Given the description of an element on the screen output the (x, y) to click on. 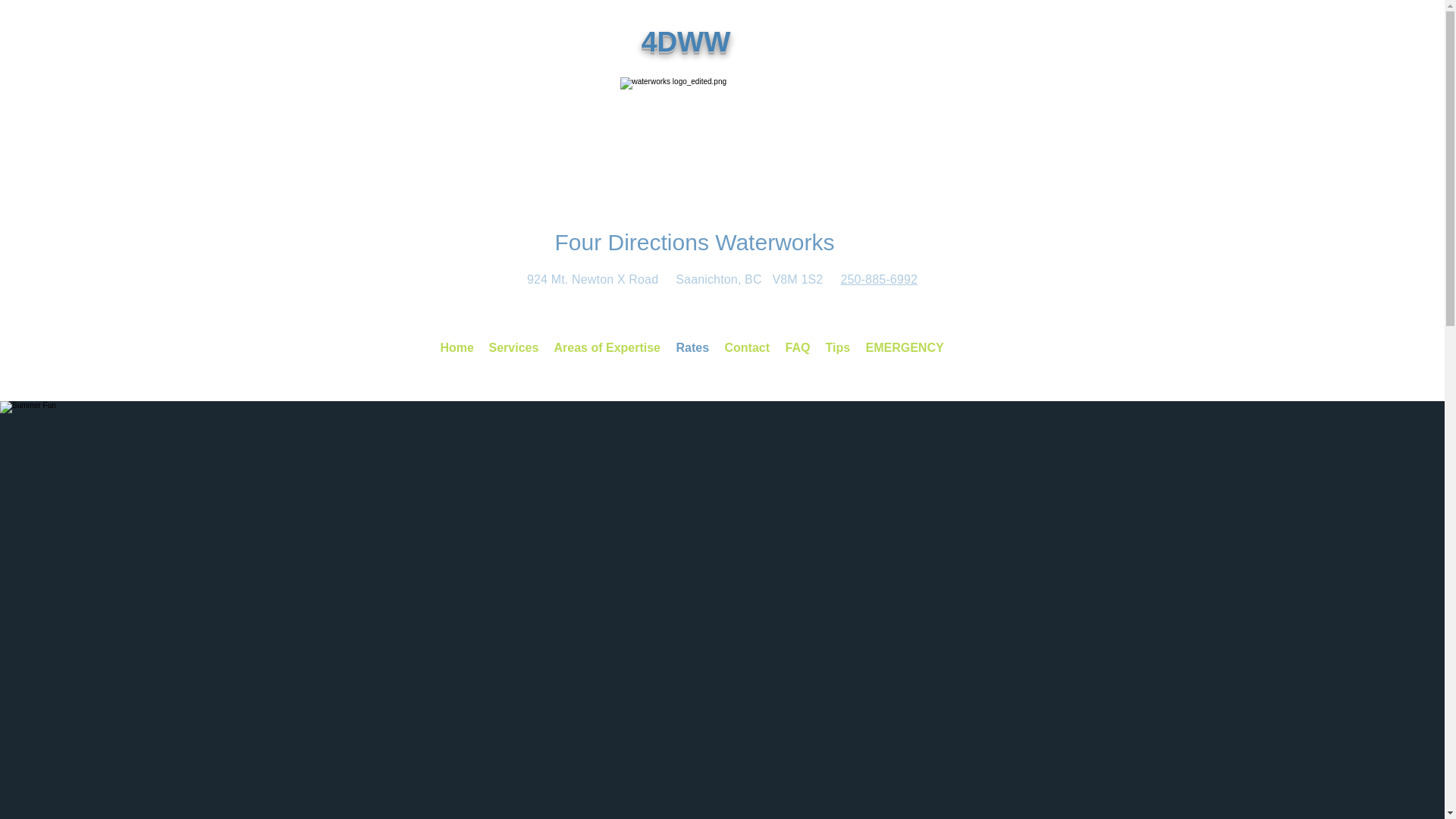
Areas of Expertise Element type: text (607, 348)
Rates Element type: text (692, 348)
EMERGENCY Element type: text (904, 348)
Tips Element type: text (837, 348)
Services Element type: text (513, 348)
Home Element type: text (456, 348)
FAQ Element type: text (798, 348)
Contact Element type: text (747, 348)
250-885-6992 Element type: text (878, 279)
